Given the description of an element on the screen output the (x, y) to click on. 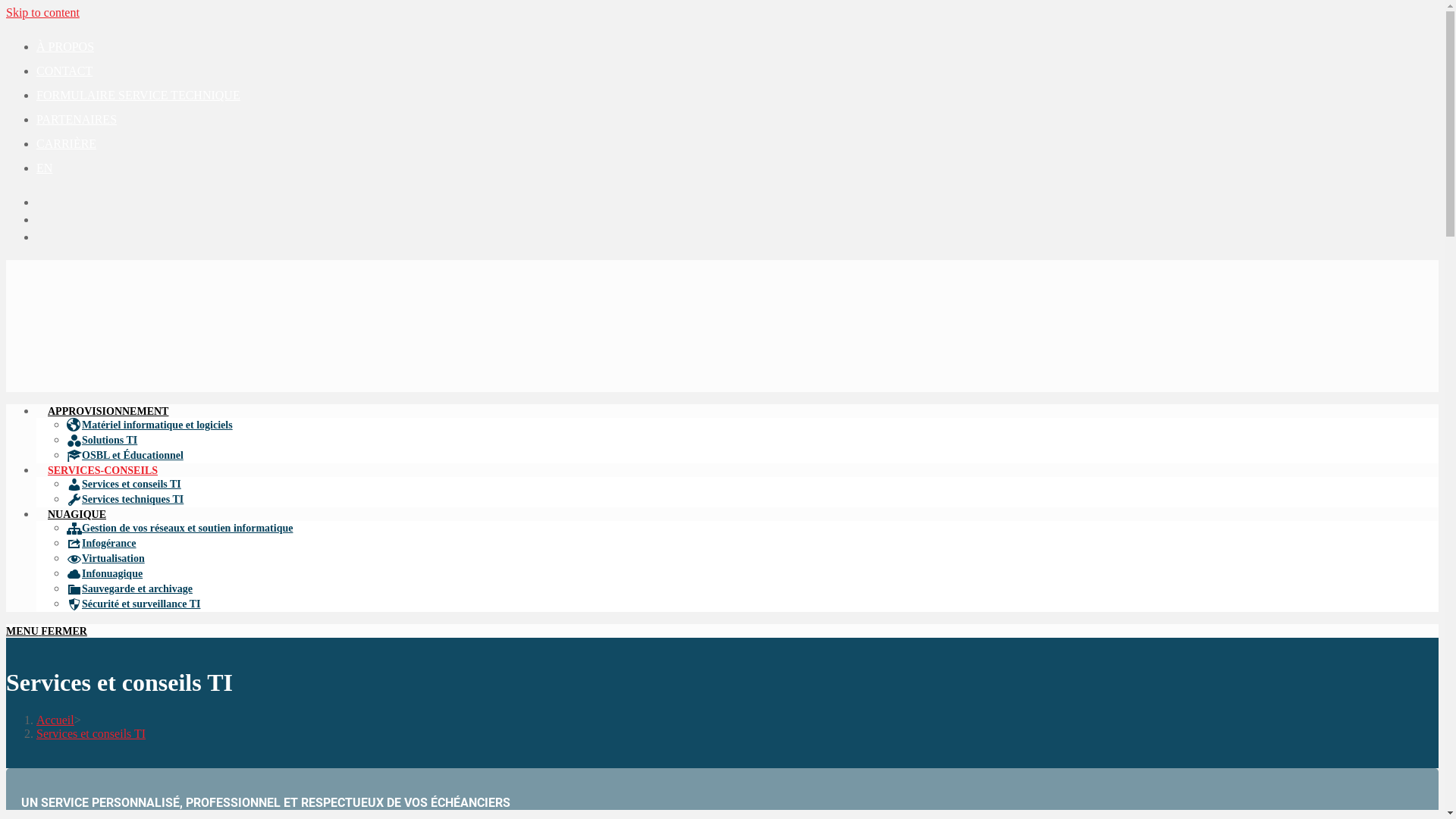
SERVICES-CONSEILS Element type: text (102, 470)
Services techniques TI Element type: text (124, 499)
NUAGIQUE Element type: text (76, 514)
PARTENAIRES Element type: text (76, 118)
APPROVISIONNEMENT Element type: text (107, 411)
Virtualisation Element type: text (105, 558)
Sauvegarde et archivage Element type: text (129, 588)
Accueil Element type: text (55, 719)
Skip to content Element type: text (42, 12)
MENU FERMER Element type: text (46, 631)
CONTACT Element type: text (64, 70)
Services et conseils TI Element type: text (90, 733)
FORMULAIRE SERVICE TECHNIQUE Element type: text (138, 94)
Services et conseils TI Element type: text (123, 483)
EN Element type: text (44, 167)
Solutions TI Element type: text (101, 439)
Infonuagique Element type: text (104, 573)
